Given the description of an element on the screen output the (x, y) to click on. 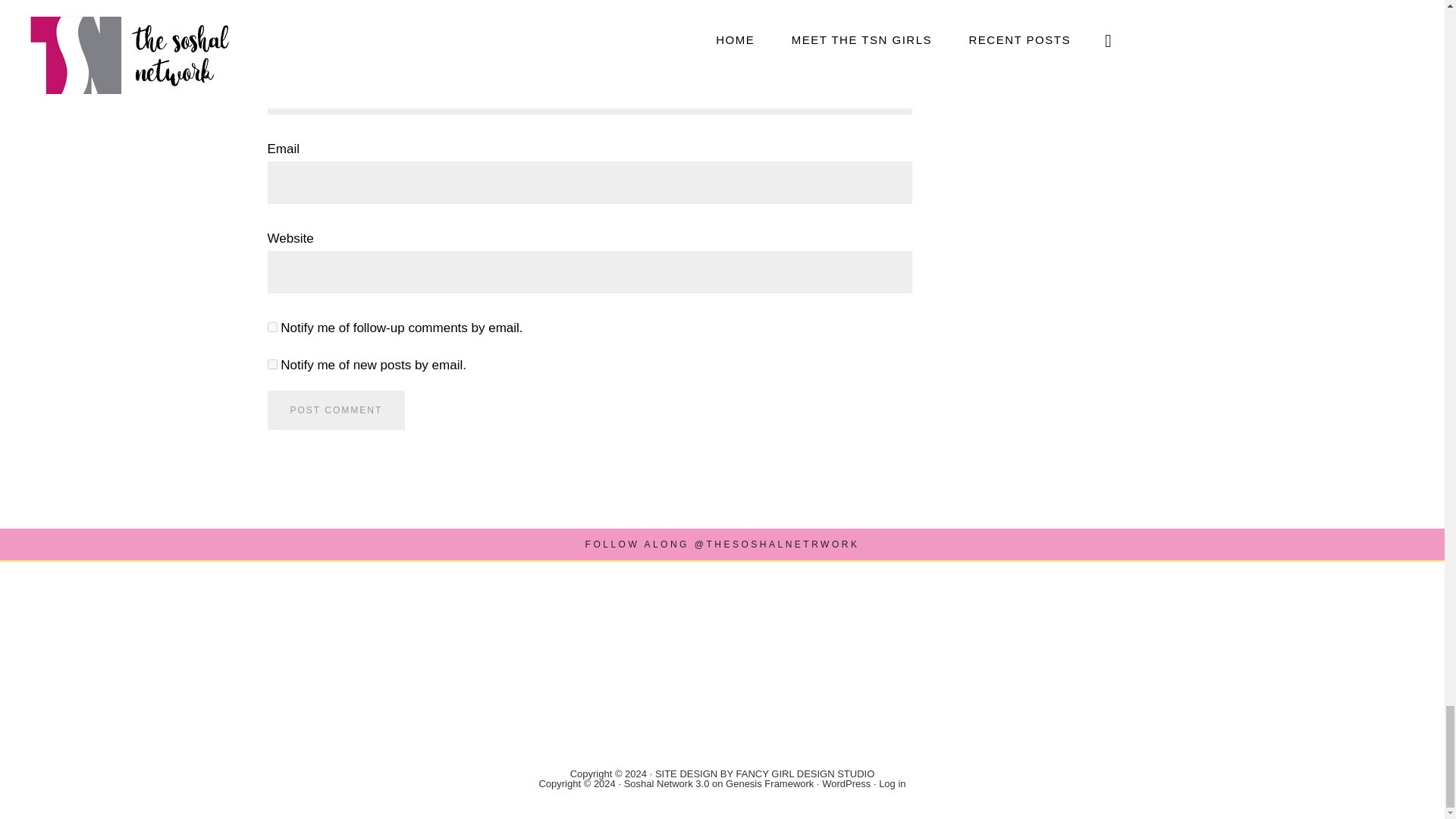
subscribe (271, 364)
Post Comment (335, 409)
subscribe (271, 327)
Post Comment (335, 409)
